Given the description of an element on the screen output the (x, y) to click on. 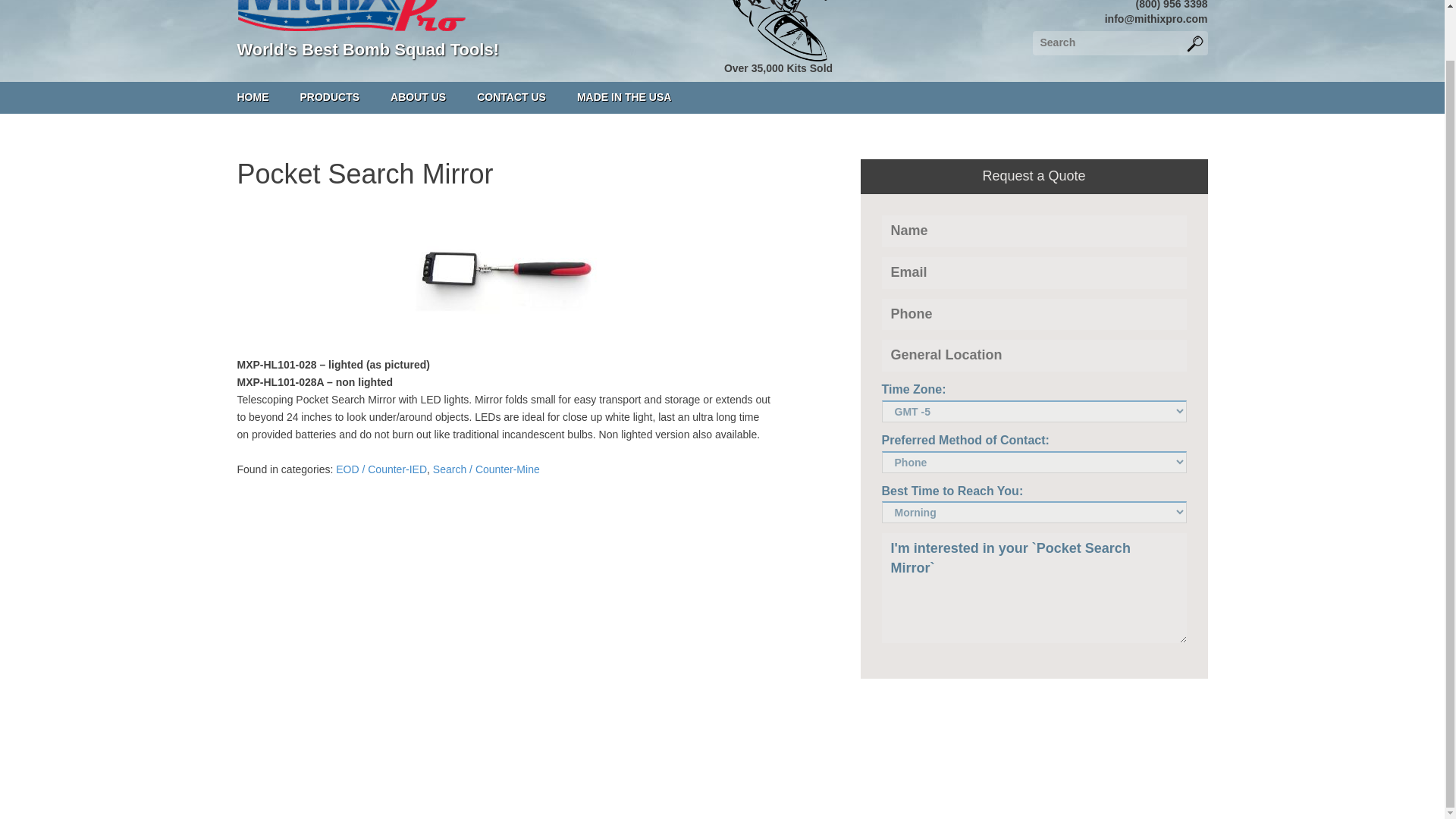
ABOUT US (417, 97)
PRODUCTS (329, 97)
CONTACT US (511, 97)
MADE IN THE USA (623, 97)
HOME (251, 97)
